Given the description of an element on the screen output the (x, y) to click on. 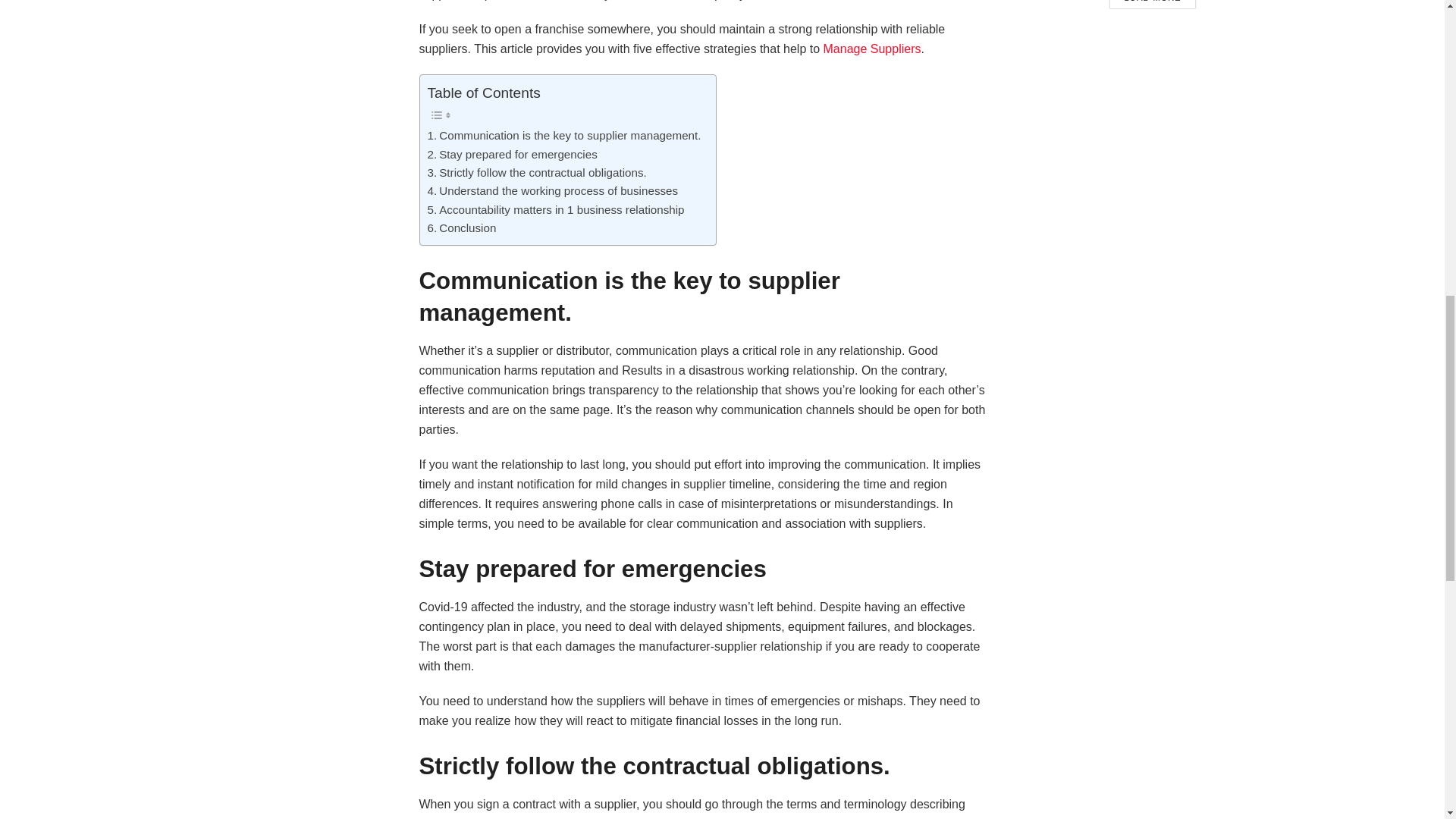
Understand the working process of businesses (553, 190)
Conclusion (462, 228)
Strictly follow the contractual obligations. (537, 172)
Stay prepared for emergencies (512, 154)
Accountability matters in 1 business relationship (556, 209)
Communication is the key to supplier management. (564, 135)
